Given the description of an element on the screen output the (x, y) to click on. 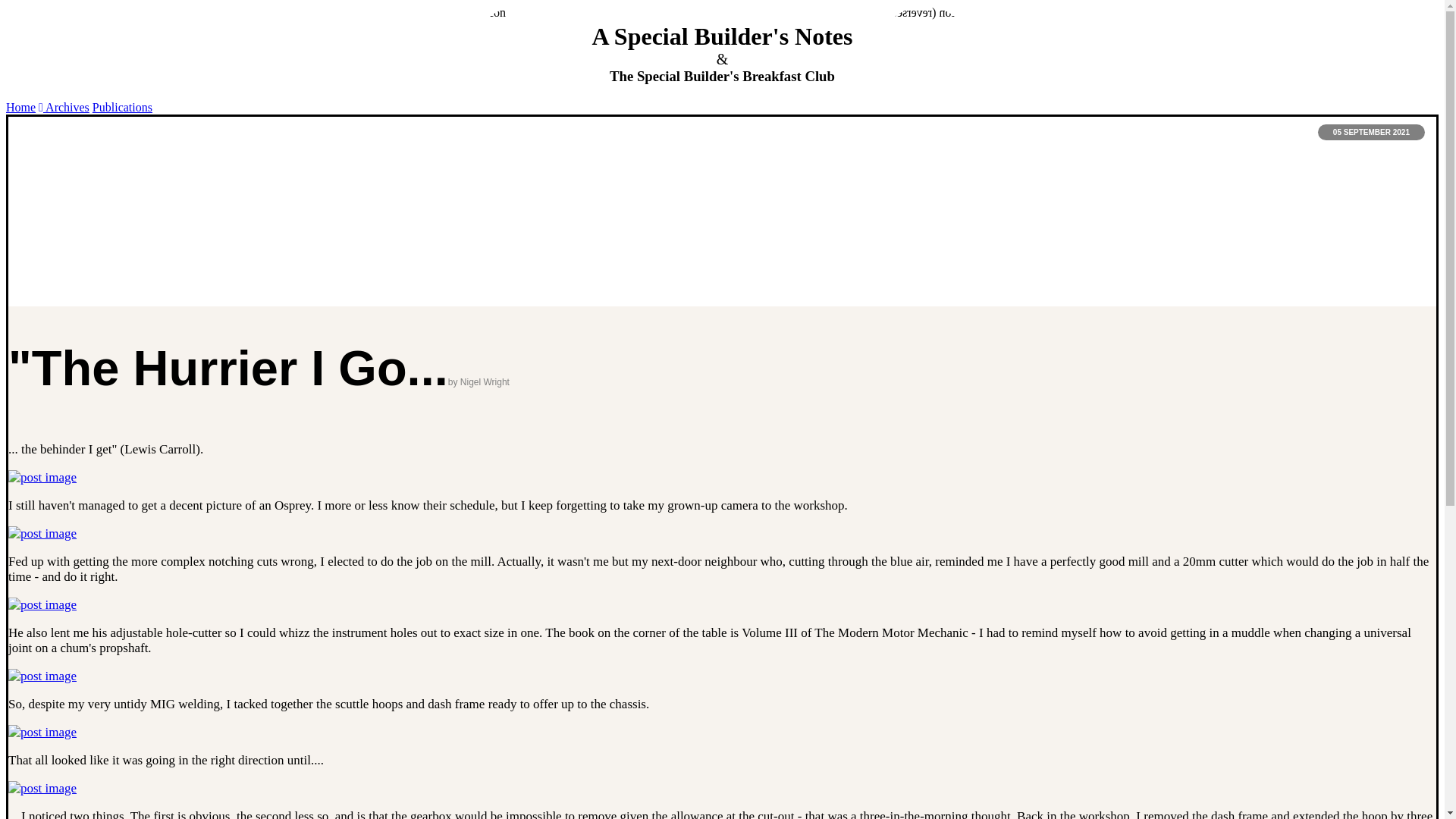
Publications (122, 106)
Archives (66, 106)
Home (19, 106)
